Given the description of an element on the screen output the (x, y) to click on. 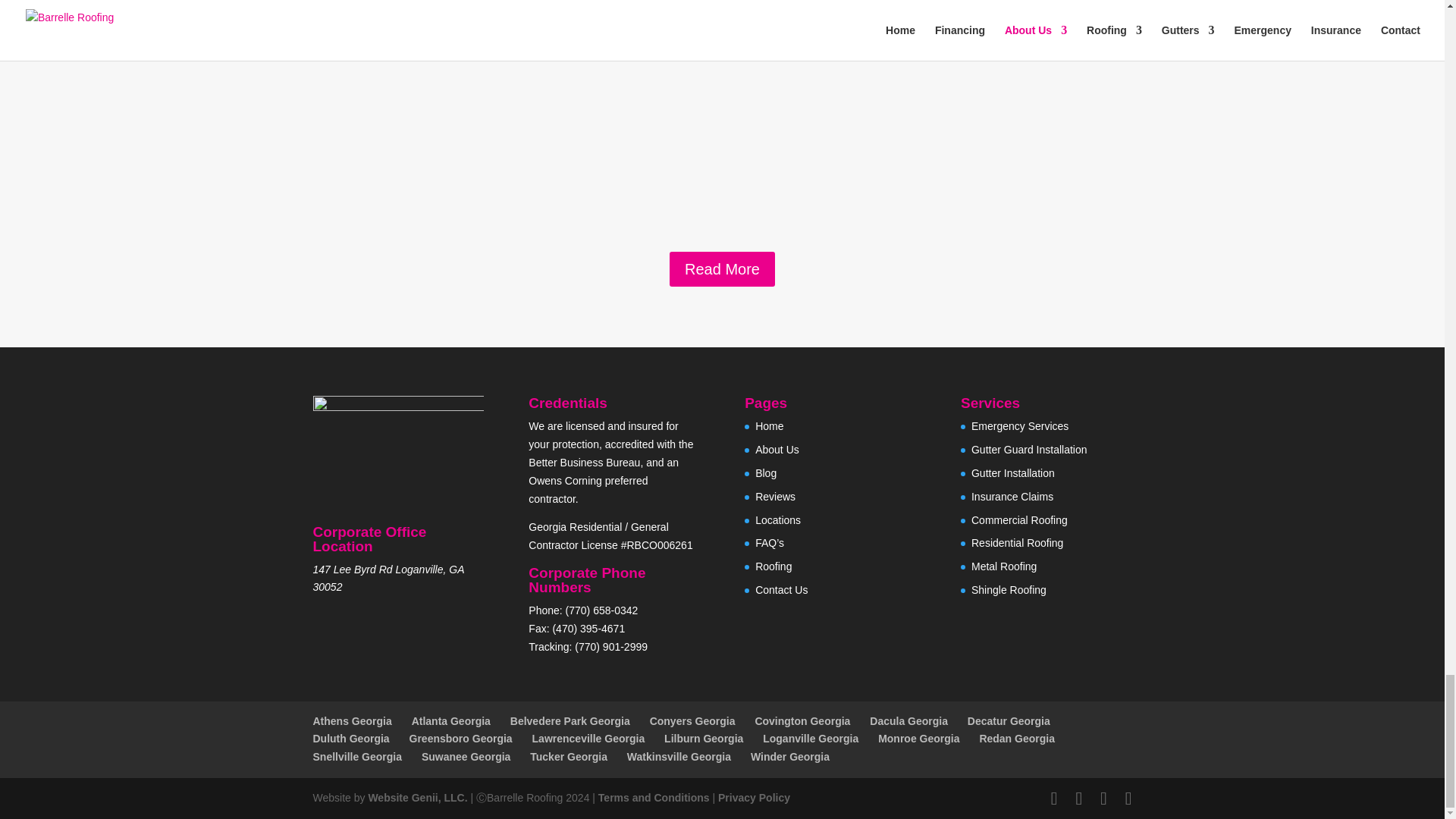
Emergency Services (1019, 426)
Read More (721, 268)
147 Lee Byrd Rd Loganville, GA 30052 (388, 578)
Reviews (774, 496)
About Us (777, 449)
Home (769, 426)
Locations (777, 520)
Contact Us (781, 589)
Blog (765, 472)
Roofing (773, 566)
